Given the description of an element on the screen output the (x, y) to click on. 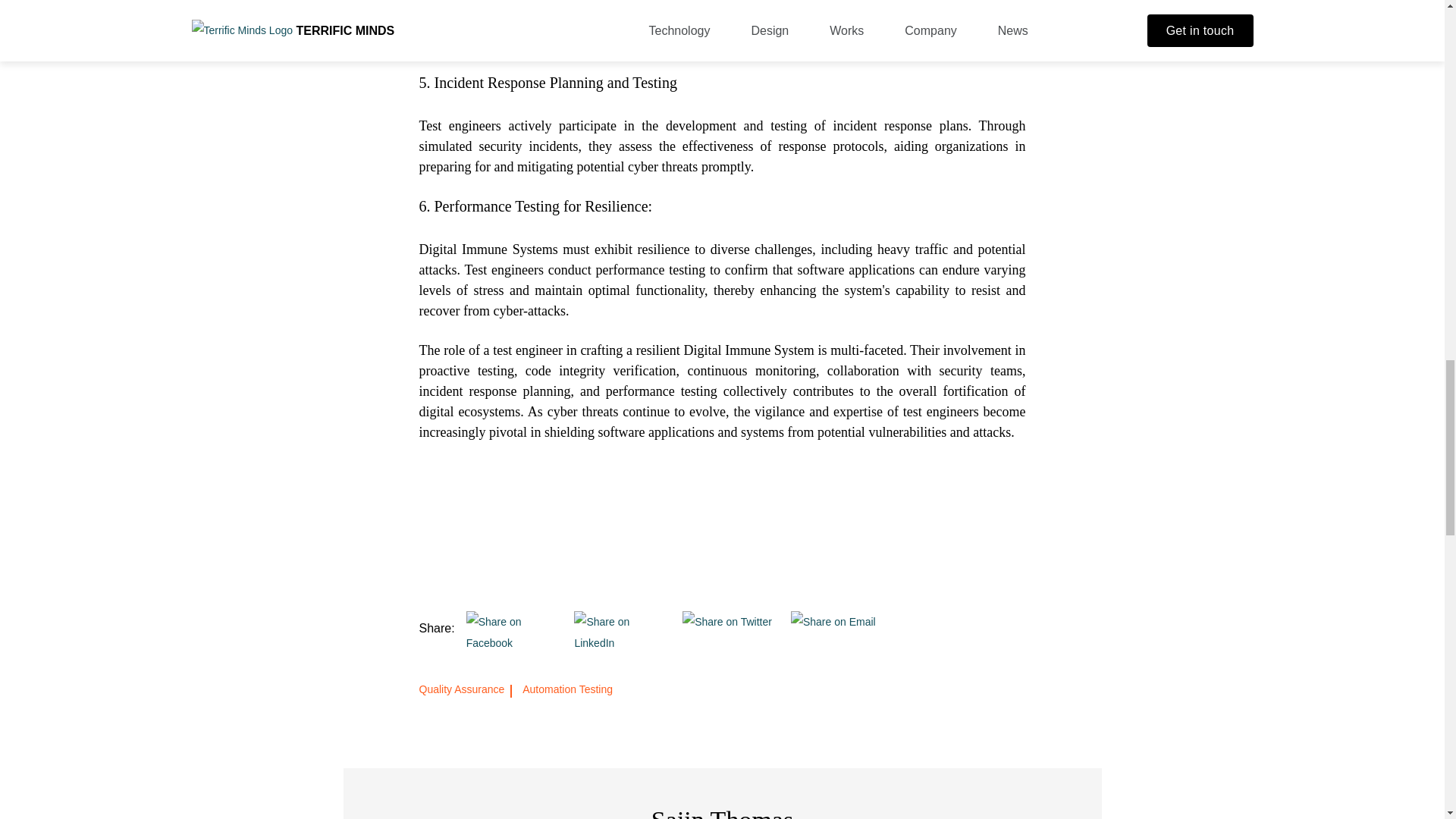
Quality Assurance (465, 689)
Sajin Thomas (721, 812)
Automation Testing (567, 689)
